Given the description of an element on the screen output the (x, y) to click on. 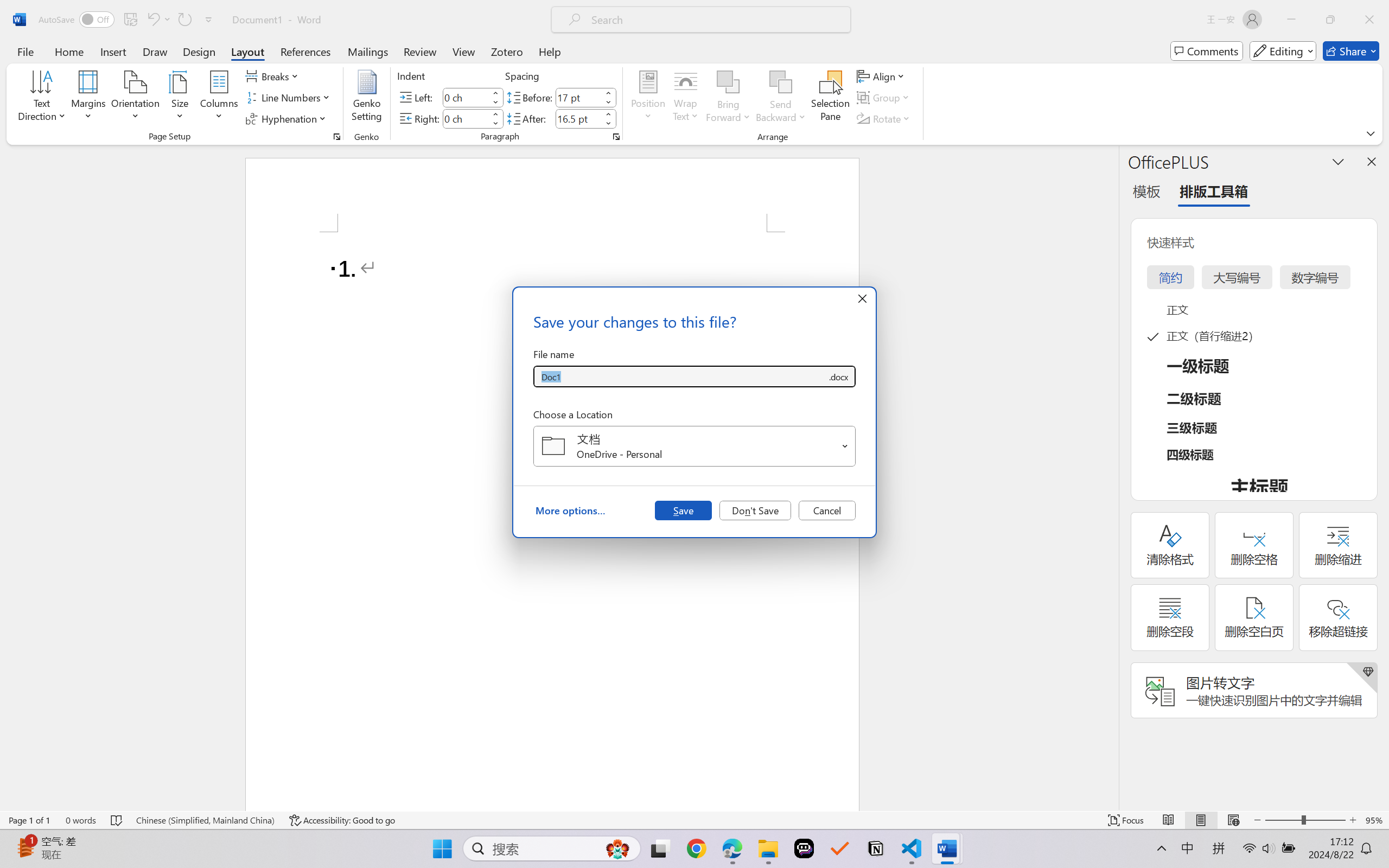
Spacing Before (578, 96)
Indent Right (465, 118)
